Given the description of an element on the screen output the (x, y) to click on. 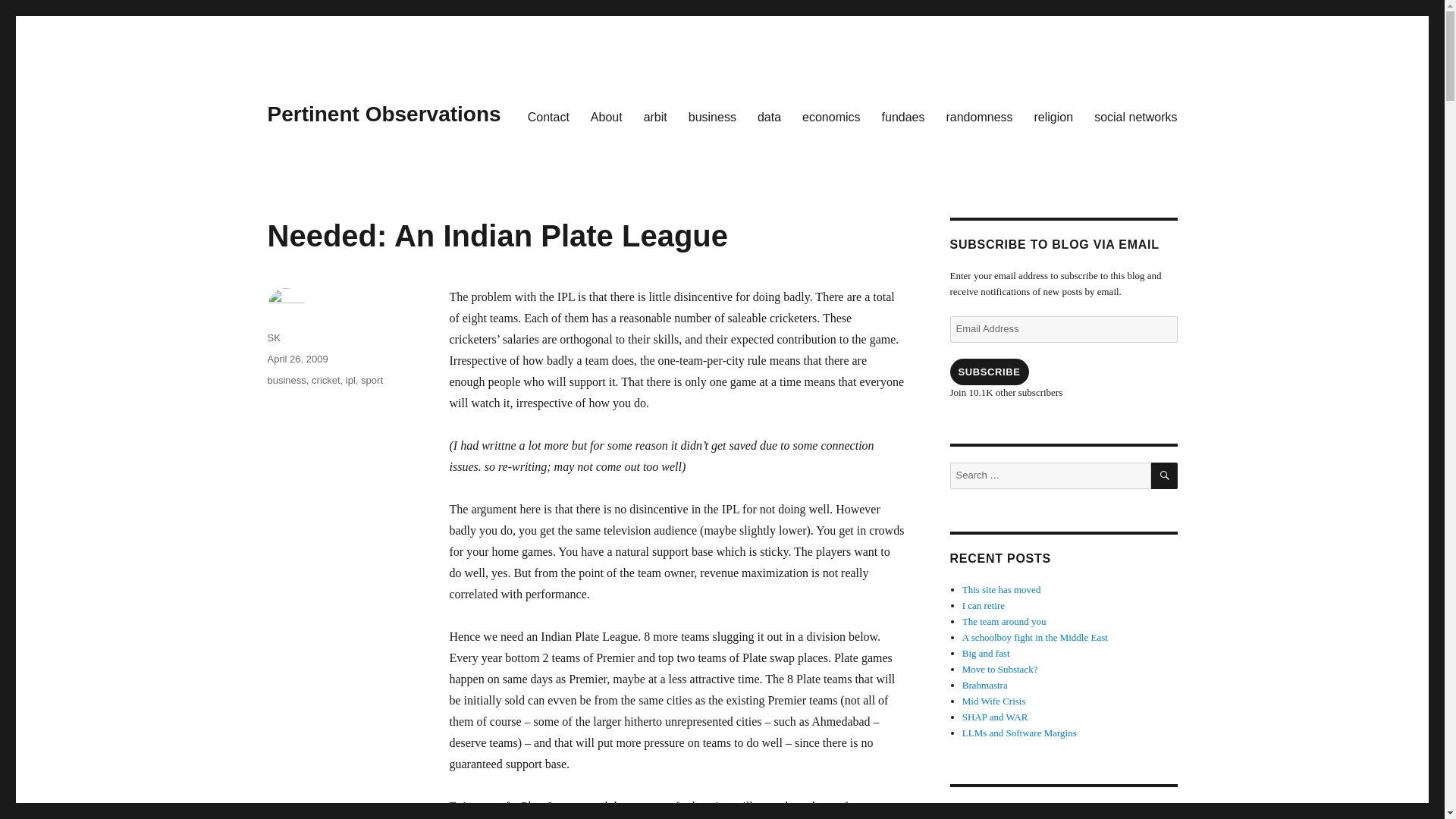
April 26, 2009 (296, 358)
SK (272, 337)
economics (831, 116)
business (712, 116)
arbit (655, 116)
fundaes (903, 116)
sport (371, 379)
About (606, 116)
religion (1053, 116)
social networks (1135, 116)
cricket (325, 379)
business (285, 379)
Contact (547, 116)
data (769, 116)
Pertinent Observations (383, 114)
